Given the description of an element on the screen output the (x, y) to click on. 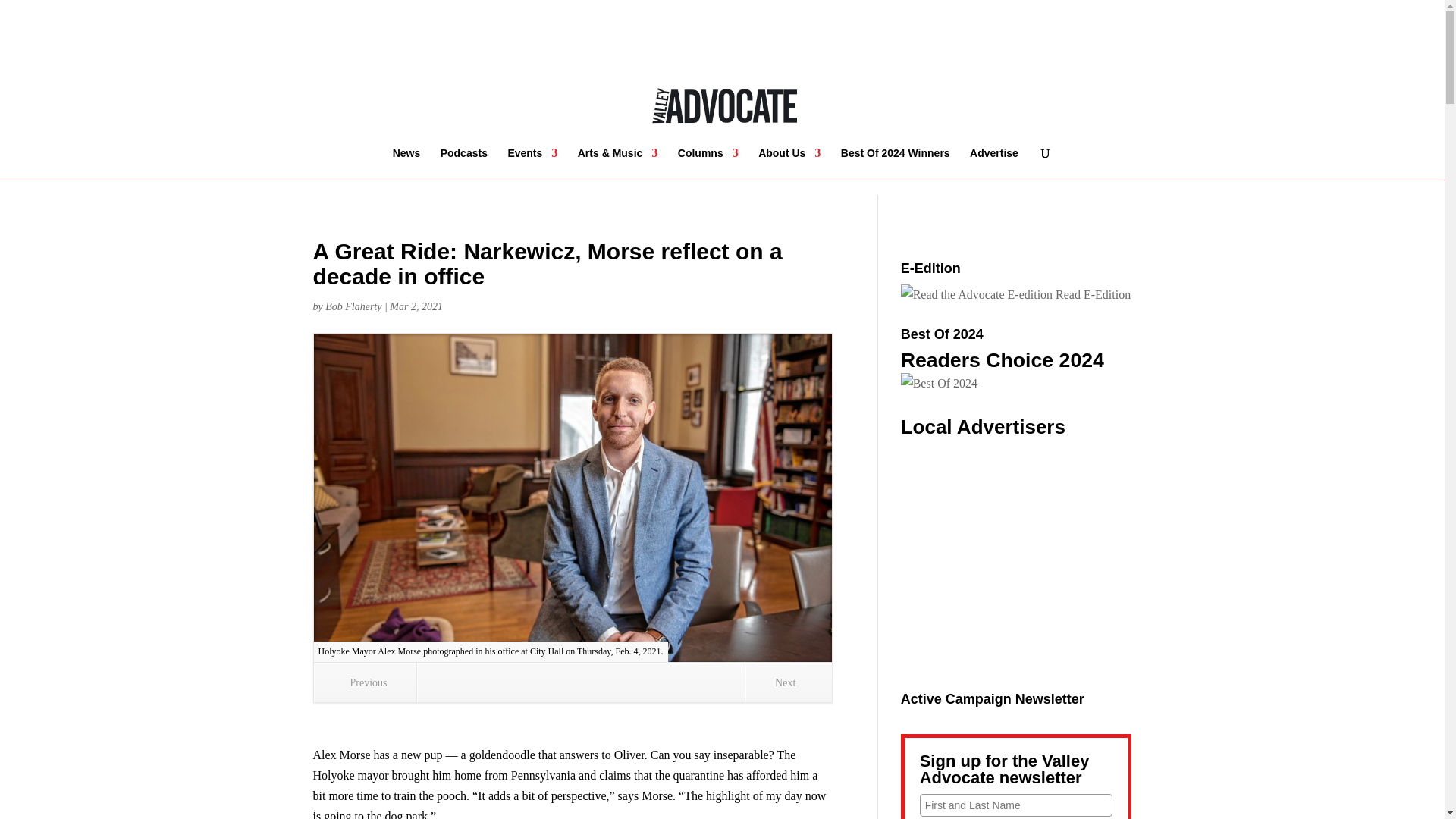
Columns (708, 163)
Podcasts (464, 163)
Events (531, 163)
Best Of 2024 Winners (895, 163)
Posts by Bob Flaherty (352, 306)
Advertise (993, 163)
About Us (789, 163)
